Given the description of an element on the screen output the (x, y) to click on. 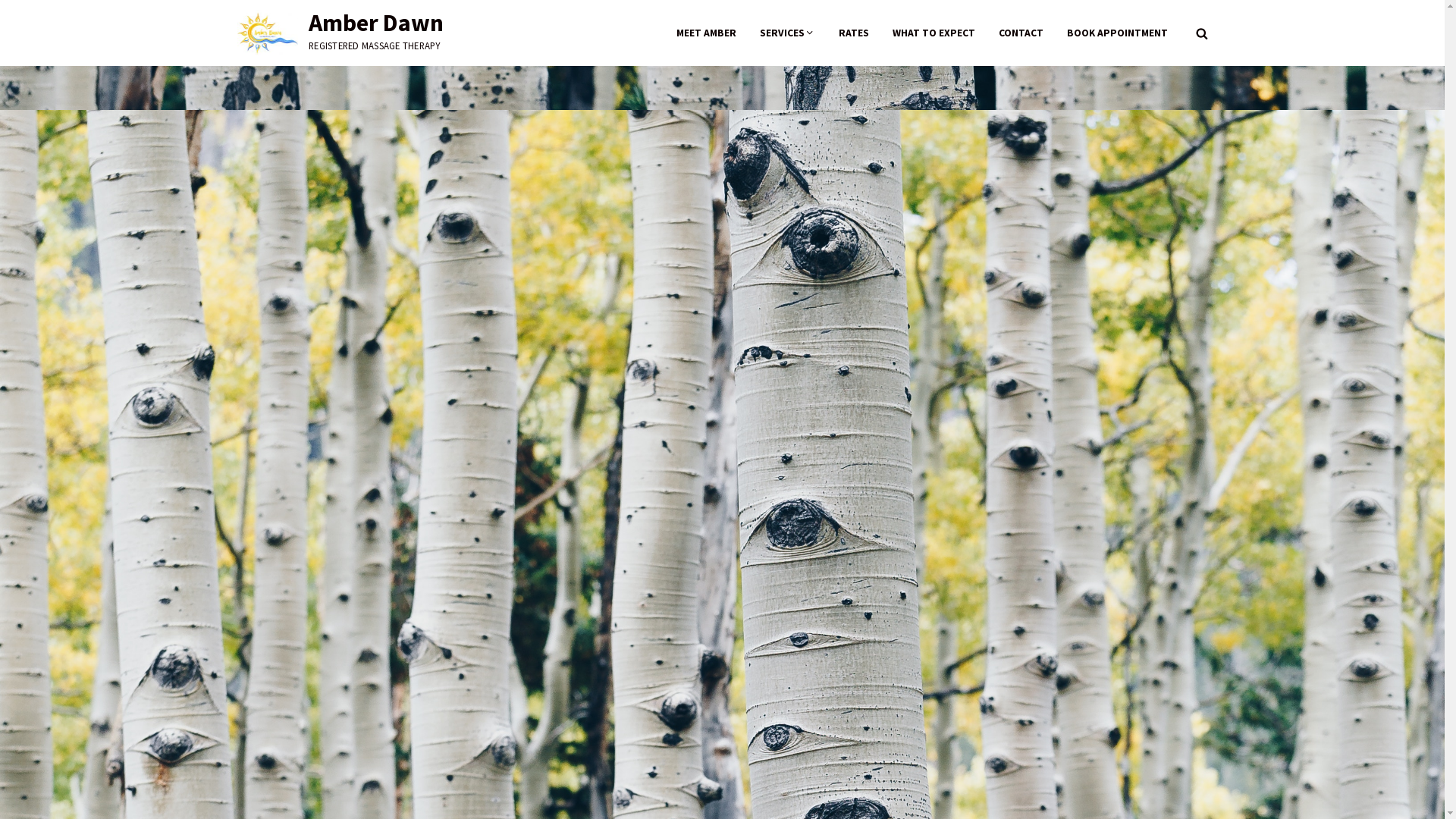
MEET AMBER Element type: text (705, 33)
WHAT TO EXPECT Element type: text (933, 33)
SERVICES Element type: text (787, 33)
BOOK APPOINTMENT Element type: text (1116, 33)
CONTACT Element type: text (1020, 33)
Skip to content Element type: text (0, 0)
Amber Dawn Element type: text (375, 22)
RATES Element type: text (853, 33)
